Given the description of an element on the screen output the (x, y) to click on. 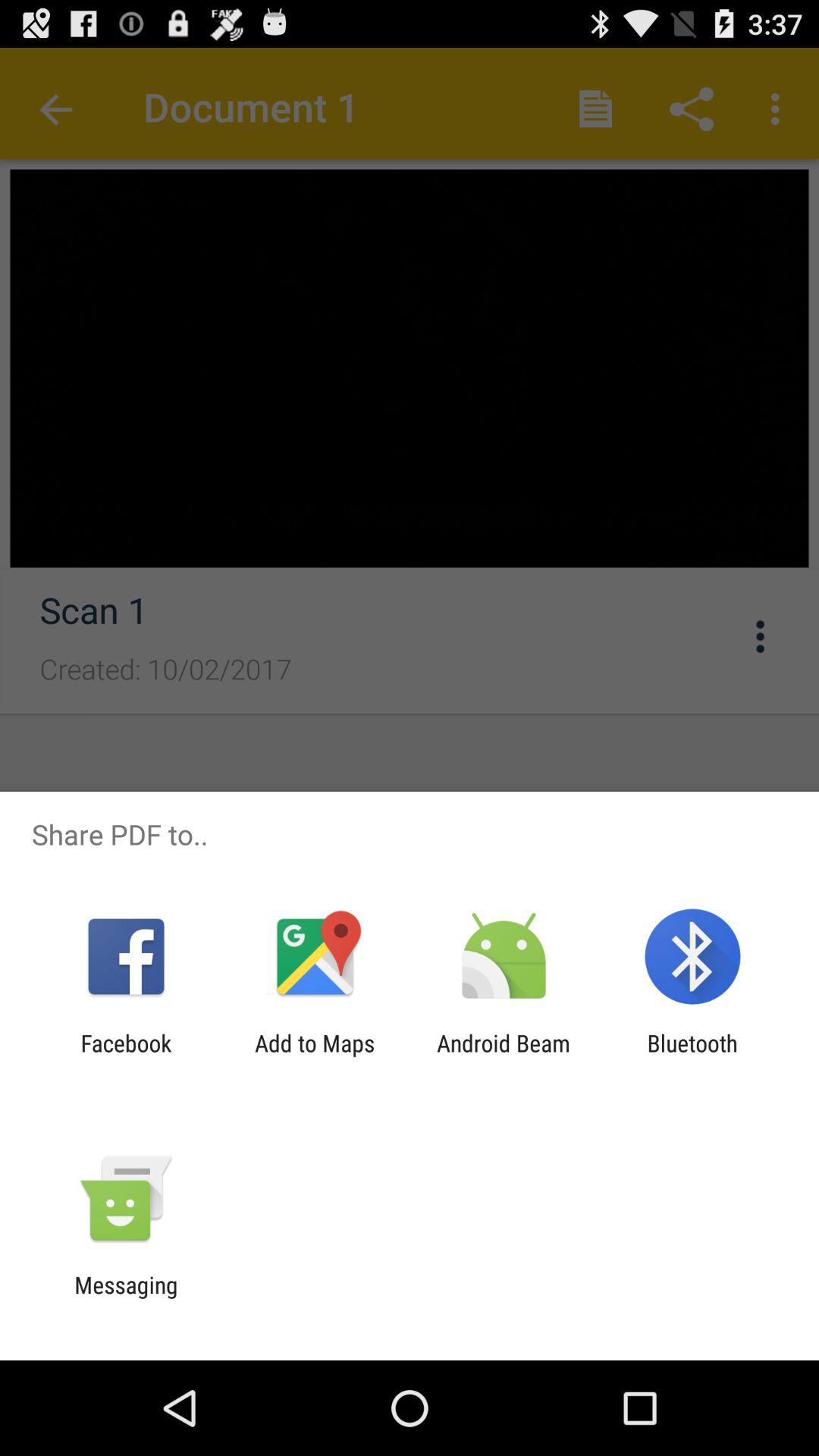
launch the app to the right of add to maps (503, 1056)
